Given the description of an element on the screen output the (x, y) to click on. 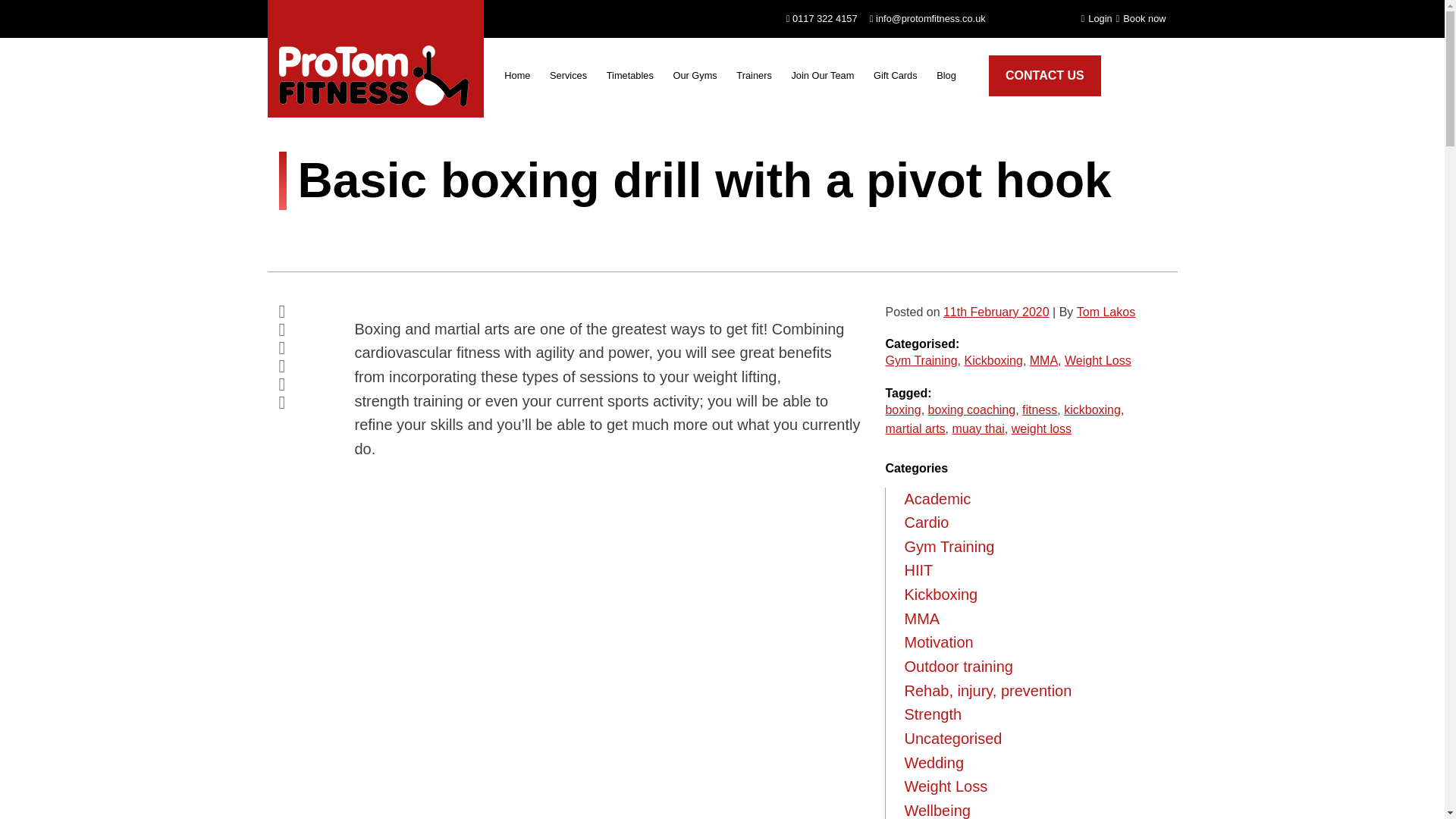
Twitter (305, 330)
boxing coaching (972, 410)
MMA (1043, 360)
Our Gyms (694, 79)
LinkedIn (305, 384)
Kickboxing (993, 360)
Blog (945, 79)
Facebook (305, 311)
Trainers (753, 79)
Weight Loss (1097, 360)
Book now (1141, 18)
boxing (902, 410)
Gift Cards (894, 79)
Login (1096, 18)
Timetables (629, 79)
